Given the description of an element on the screen output the (x, y) to click on. 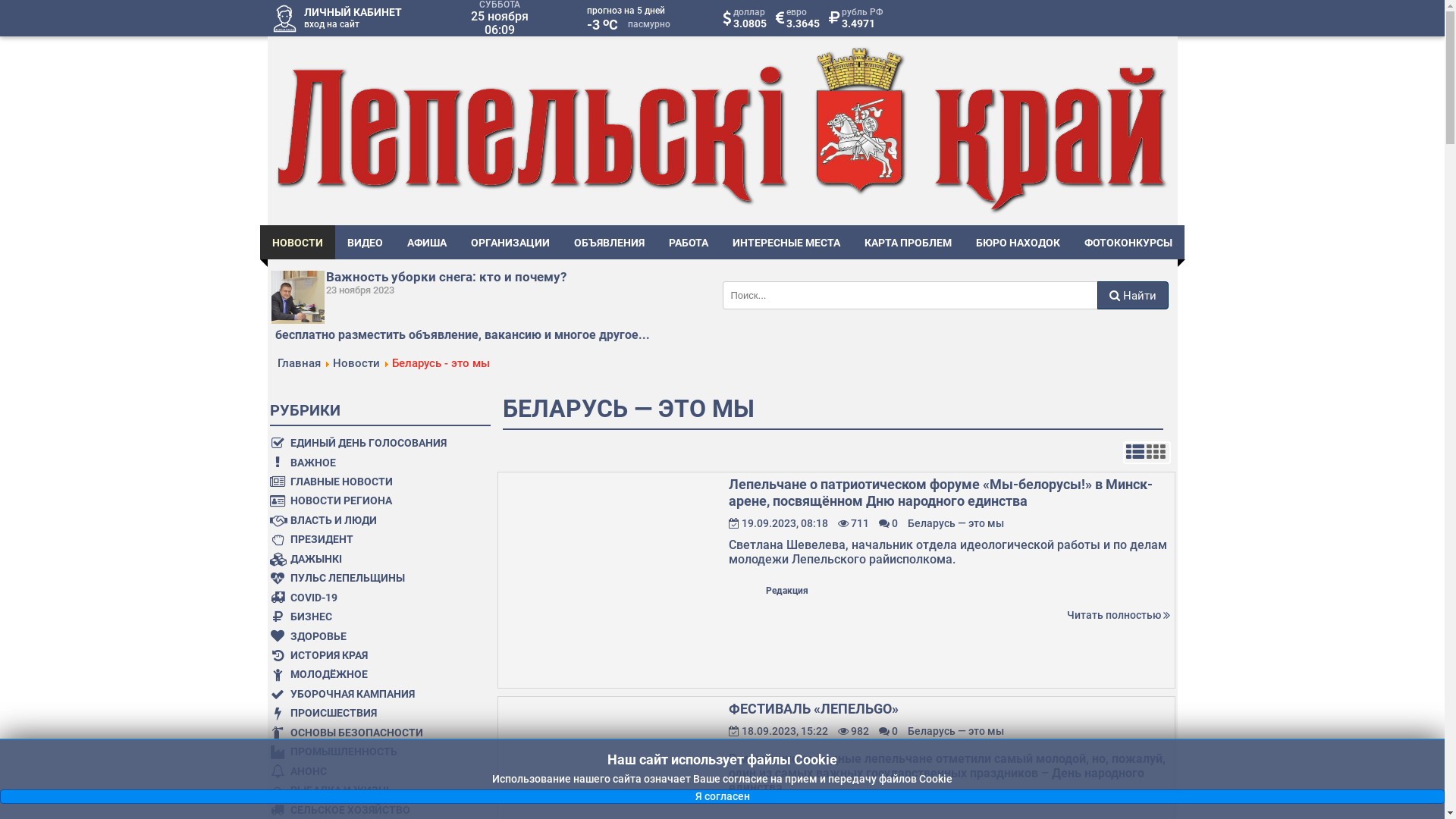
COVID-19 Element type: text (369, 597)
